Given the description of an element on the screen output the (x, y) to click on. 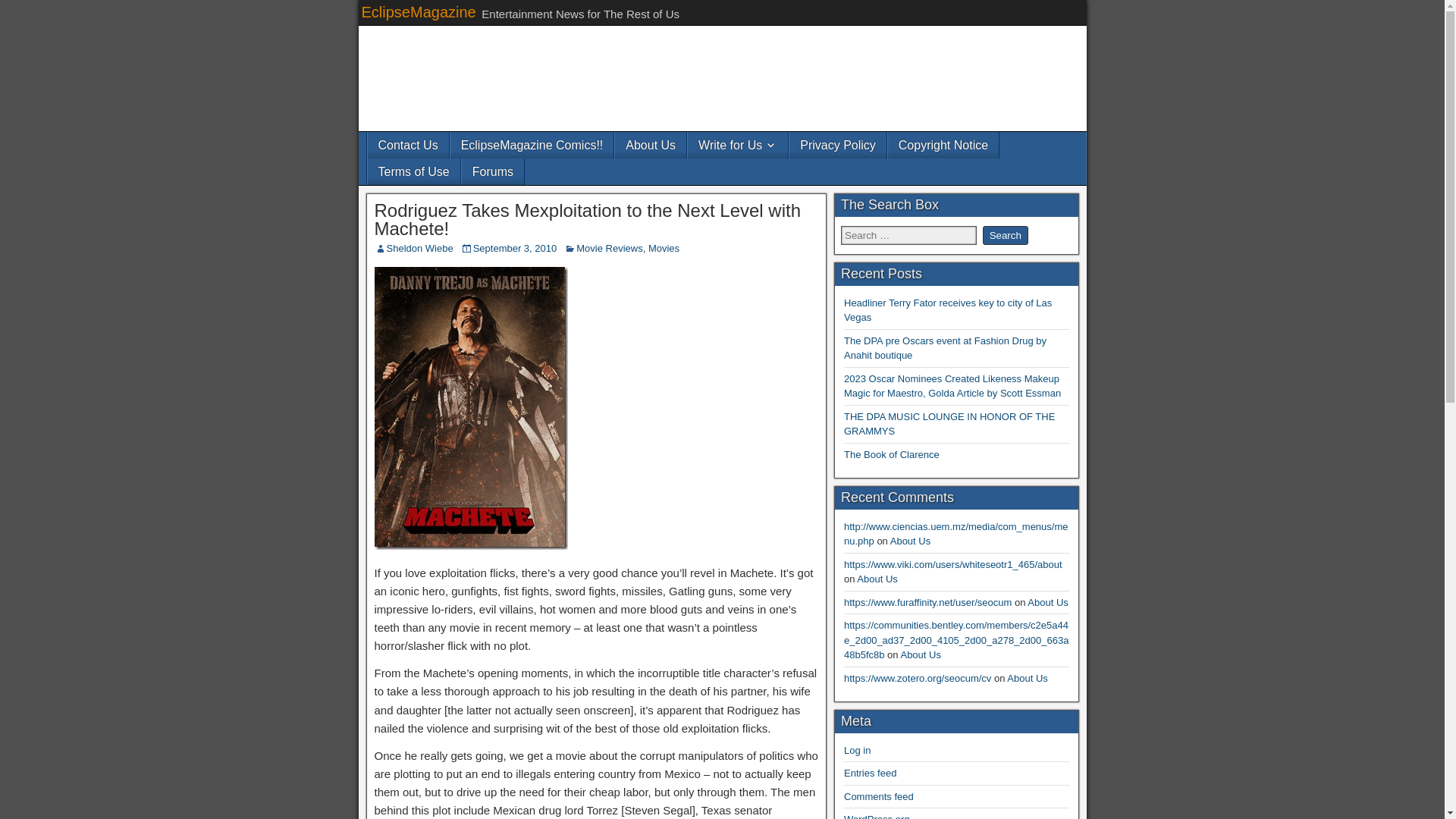
September 3, 2010 (515, 247)
Movies (663, 247)
About Us (649, 144)
Movie Reviews (609, 247)
Headliner Terry Fator receives key to city of Las Vegas (947, 310)
About Us (909, 541)
About Us (876, 578)
Copyright Notice (943, 144)
Search (1004, 235)
